Given the description of an element on the screen output the (x, y) to click on. 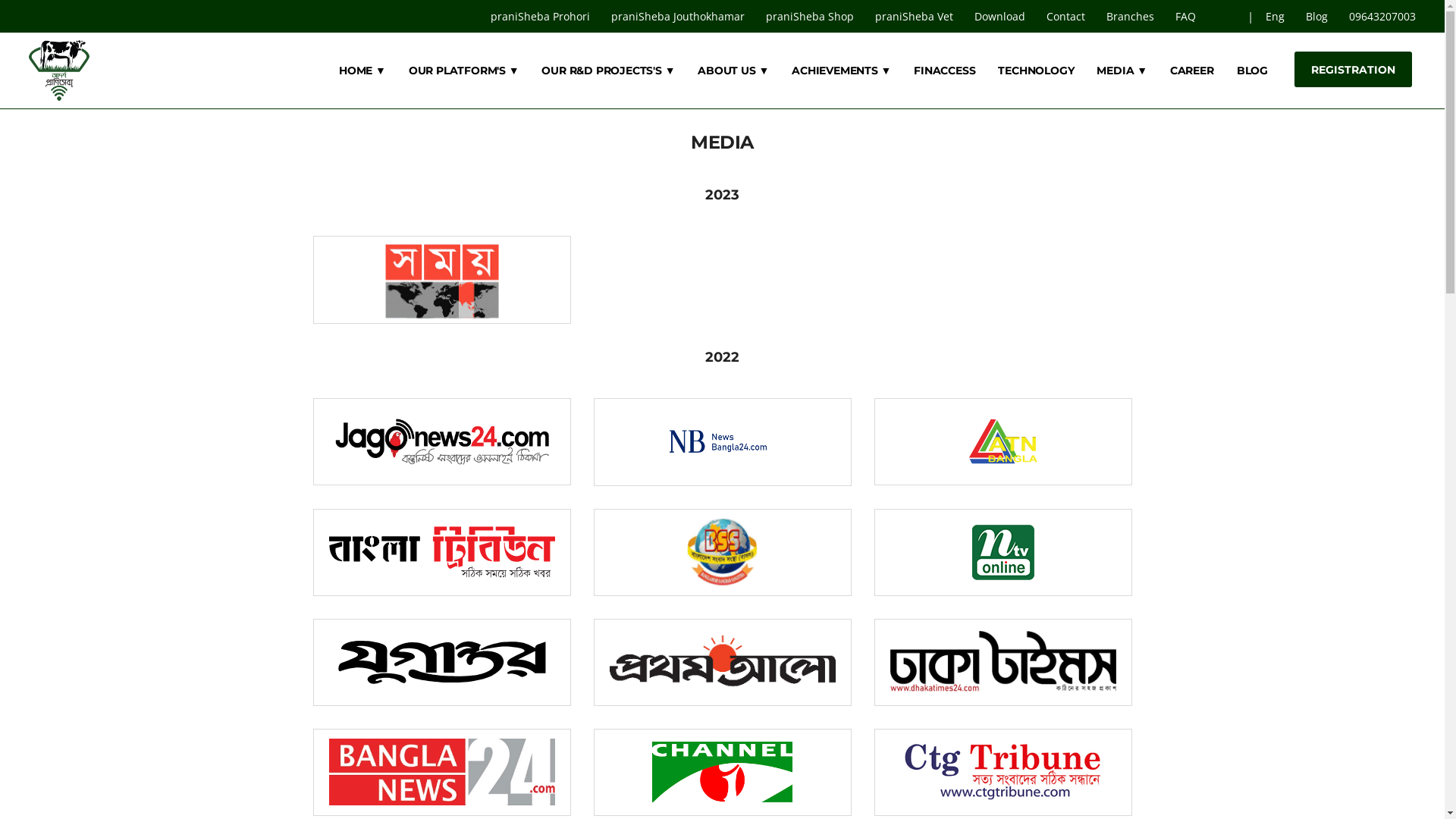
Download Element type: text (1001, 16)
BLOG Element type: text (1251, 70)
FINACCESS Element type: text (944, 70)
09643207003 Element type: text (1381, 16)
praniSheba Shop Element type: text (811, 16)
Contact Element type: text (1067, 16)
praniSheba Vet Element type: text (915, 16)
Blog Element type: text (1317, 16)
praniSheba Jouthokhamar Element type: text (679, 16)
FAQ Element type: text (1187, 16)
TECHNOLOGY Element type: text (1035, 70)
REGISTRATION Element type: text (1353, 69)
Eng Element type: text (1276, 16)
CAREER Element type: text (1192, 70)
praniSheba Prohori Element type: text (541, 16)
Branches Element type: text (1131, 16)
